Given the description of an element on the screen output the (x, y) to click on. 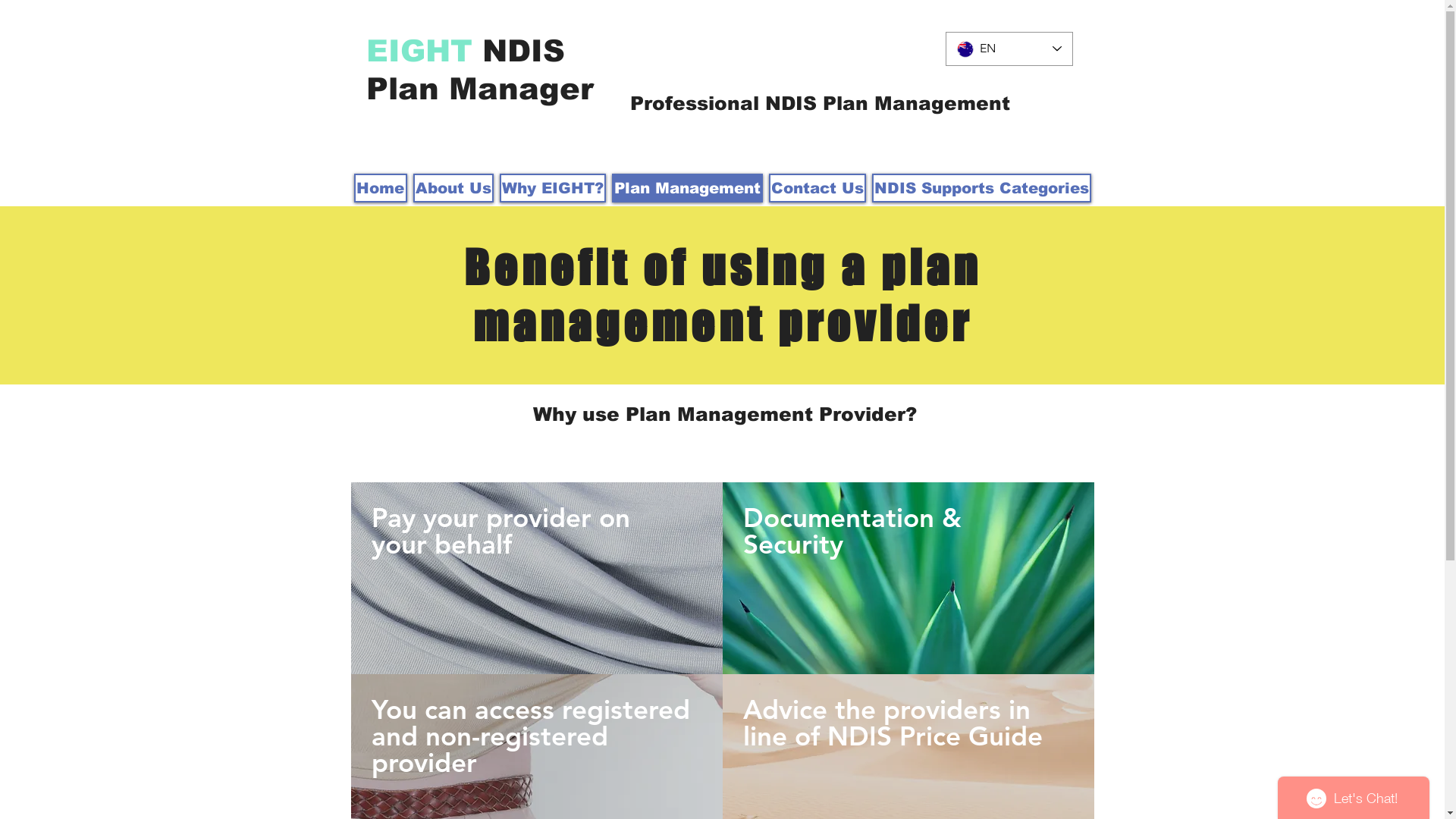
Plan Management Element type: text (686, 187)
About Us Element type: text (452, 187)
DIS Plan Management Element type: text (895, 102)
Why EIGHT? Element type: text (551, 187)
EIGHT NDIS Element type: text (464, 50)
Professional N Element type: text (704, 102)
Plan Manager Element type: text (479, 88)
Contact Us Element type: text (817, 187)
Home Element type: text (379, 187)
NDIS Supports Categories Element type: text (981, 187)
